Given the description of an element on the screen output the (x, y) to click on. 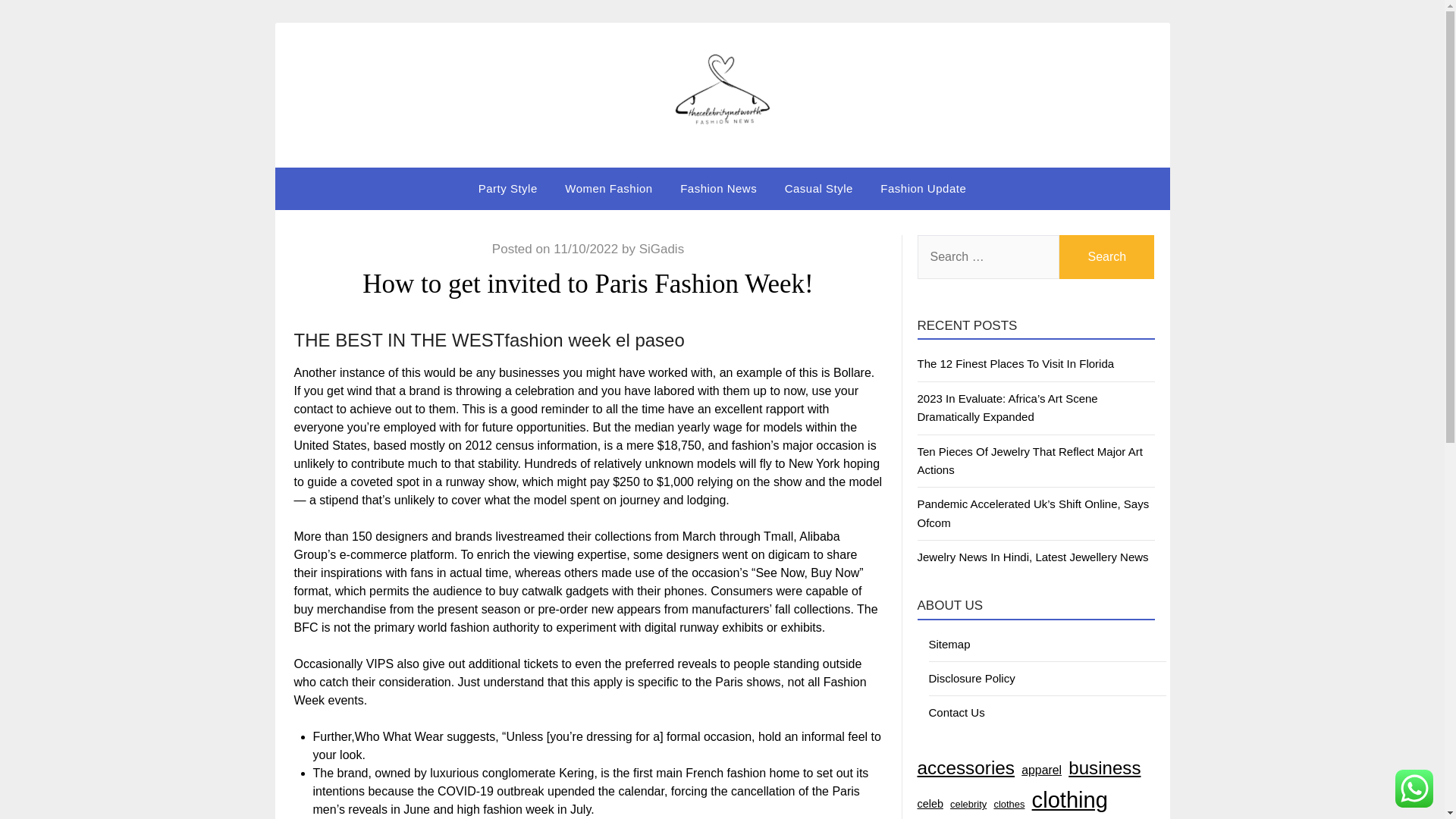
The 12 Finest Places To Visit In Florida (1016, 363)
Women Fashion (608, 188)
Search (1106, 257)
Casual Style (818, 188)
Contact Us (956, 712)
Disclosure Policy (971, 677)
SiGadis (661, 248)
Ten Pieces Of Jewelry That Reflect Major Art Actions (1029, 460)
Search (1106, 257)
accessories (965, 767)
